Given the description of an element on the screen output the (x, y) to click on. 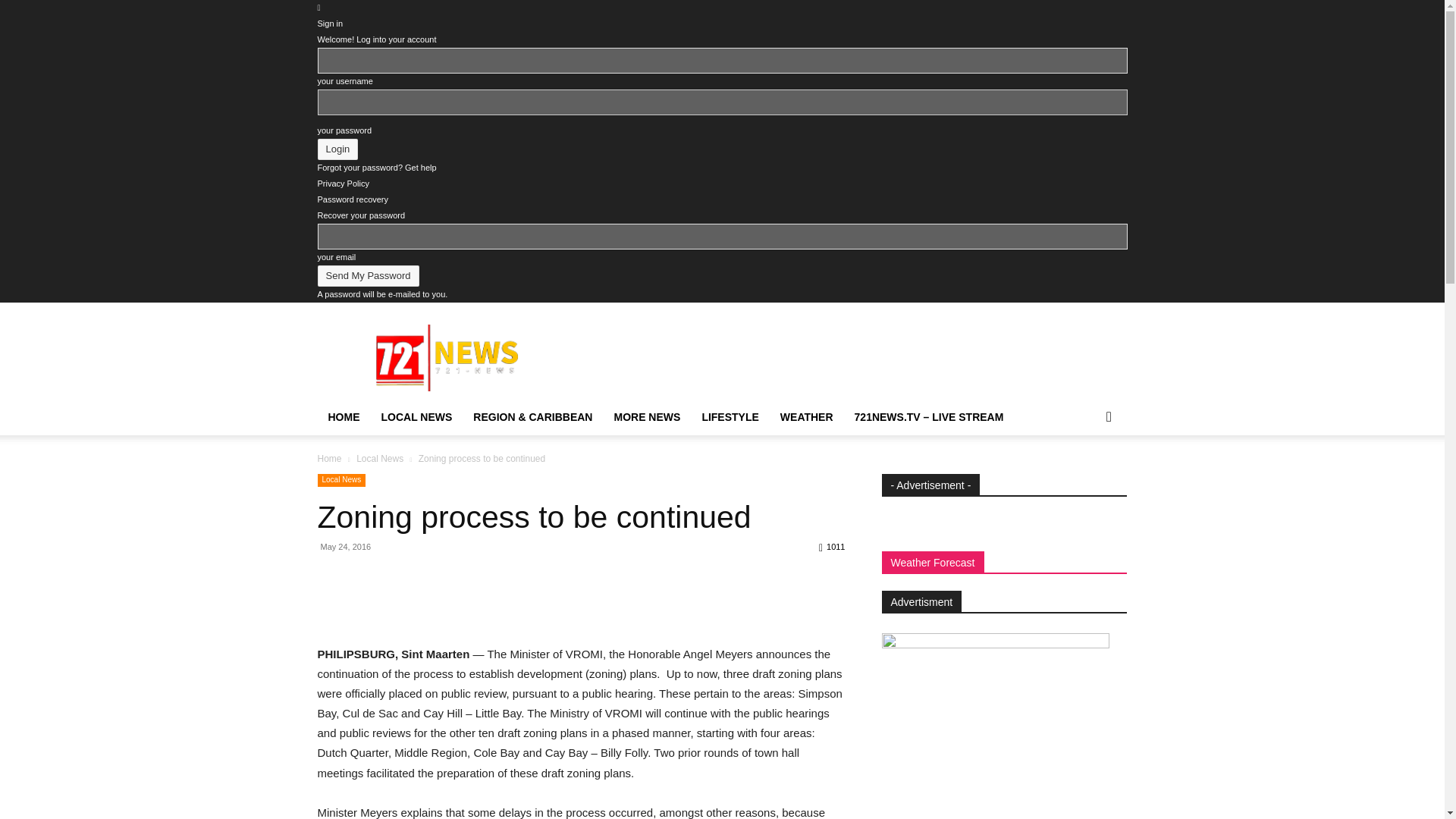
Forgot your password? Get help (376, 166)
Send My Password (368, 275)
Privacy Policy (342, 183)
Login (337, 148)
